Given the description of an element on the screen output the (x, y) to click on. 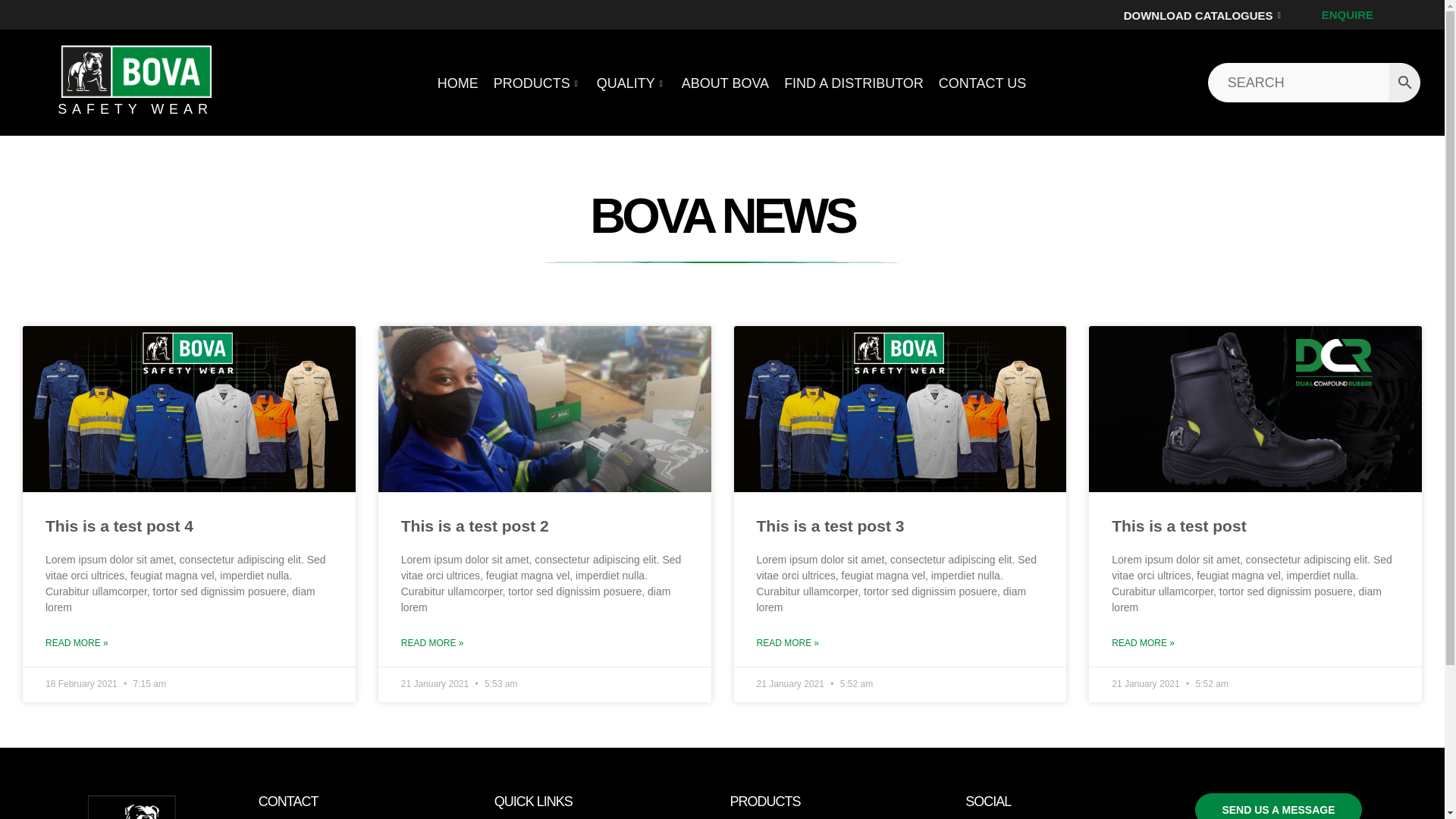
HOME (457, 83)
DOWNLOAD CATALOGUES (1204, 22)
ENQUIRE (1347, 14)
PRODUCTS (537, 83)
